Given the description of an element on the screen output the (x, y) to click on. 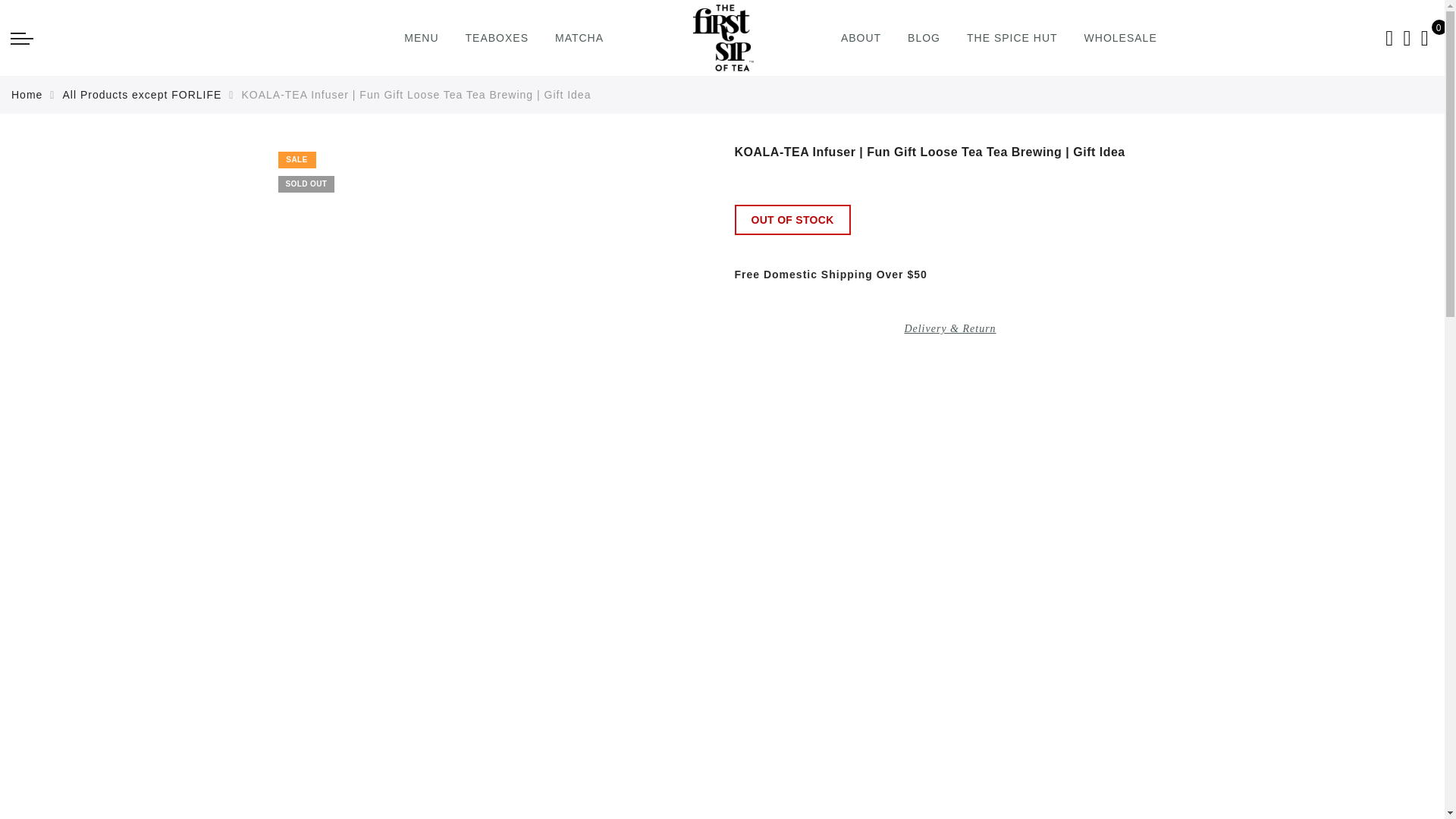
MENU (421, 37)
